Given the description of an element on the screen output the (x, y) to click on. 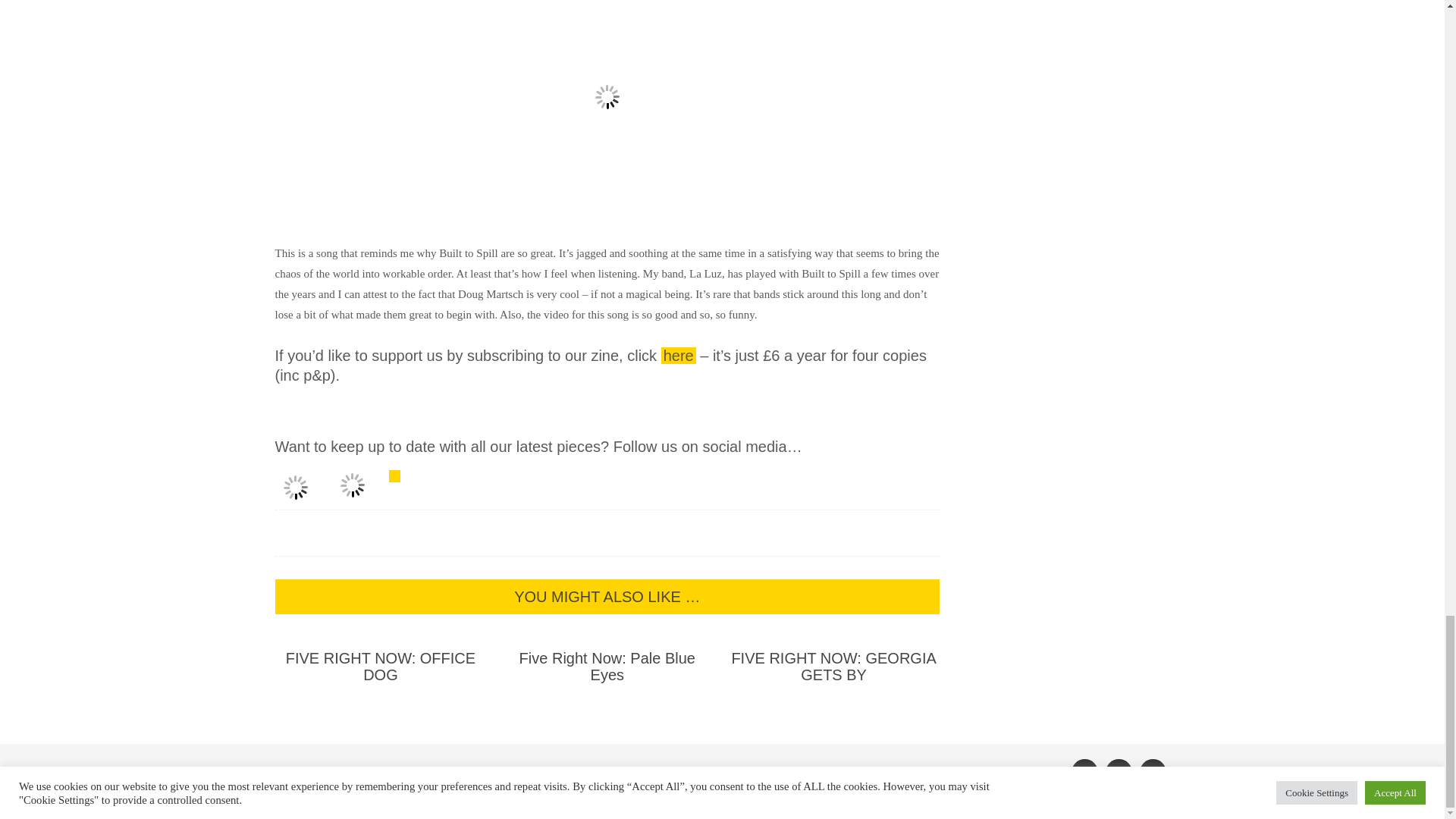
Five Right Now: Pale Blue Eyes (607, 666)
here (678, 355)
FIVE RIGHT NOW: OFFICE DOG (380, 666)
